Given the description of an element on the screen output the (x, y) to click on. 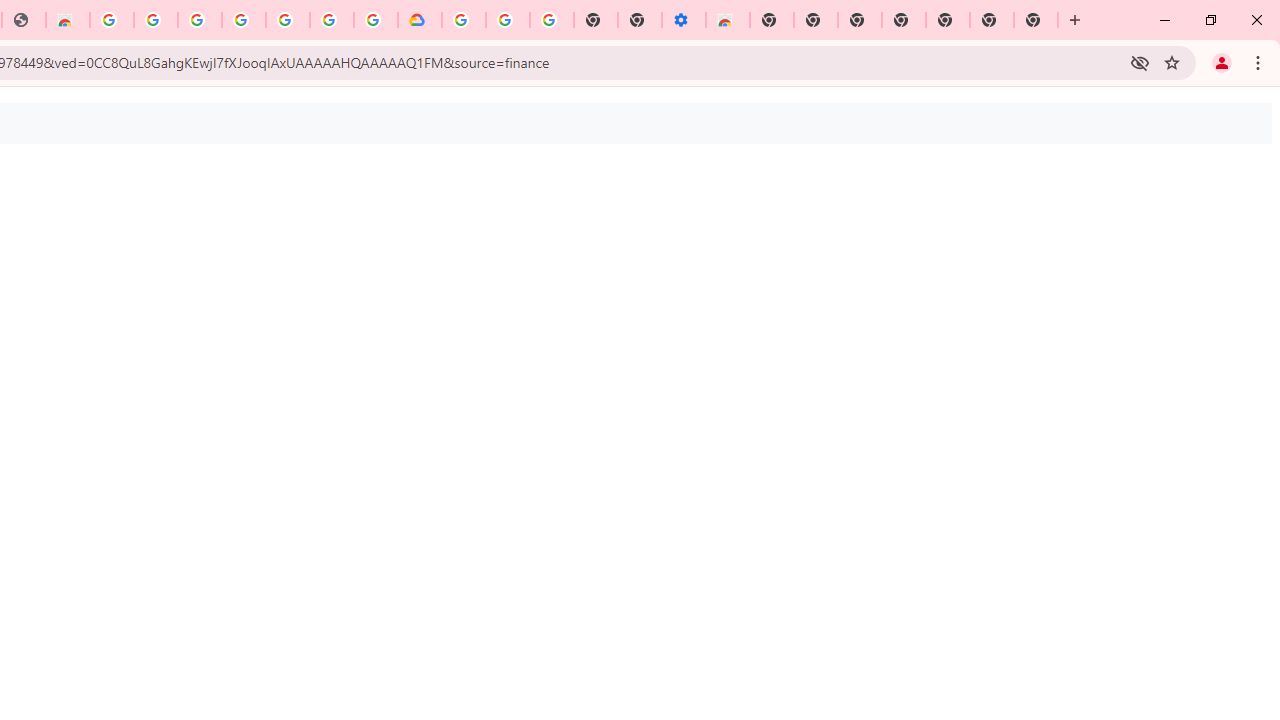
Chrome Web Store - Household (67, 20)
Chrome Web Store - Accessibility extensions (728, 20)
Sign in - Google Accounts (199, 20)
Ad Settings (155, 20)
New Tab (1035, 20)
New Tab (771, 20)
Google Account Help (507, 20)
Sign in - Google Accounts (463, 20)
